Given the description of an element on the screen output the (x, y) to click on. 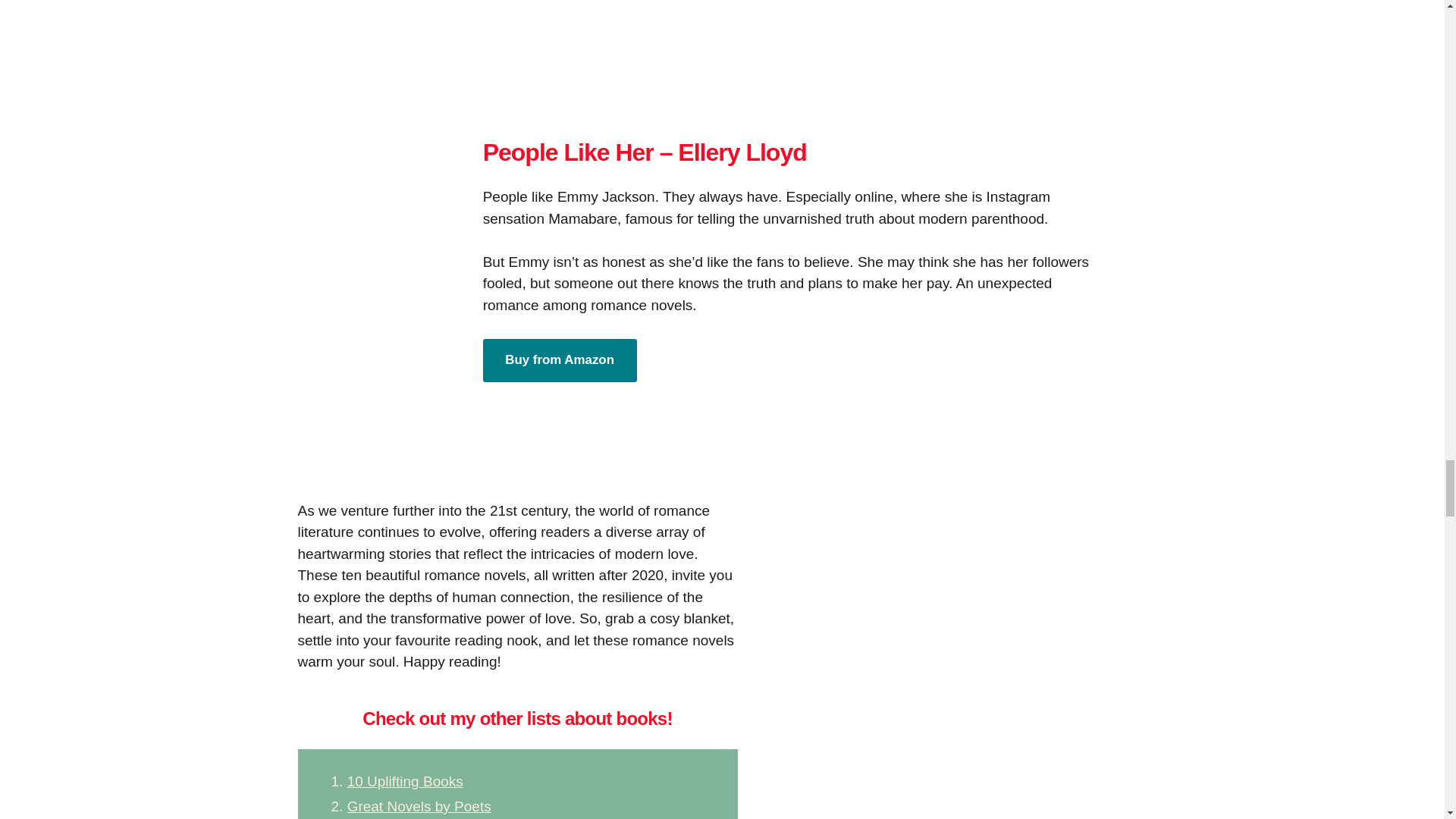
10 Uplifting Books (405, 781)
Great Novels by Poets (419, 806)
Buy from Amazon (560, 360)
